Given the description of an element on the screen output the (x, y) to click on. 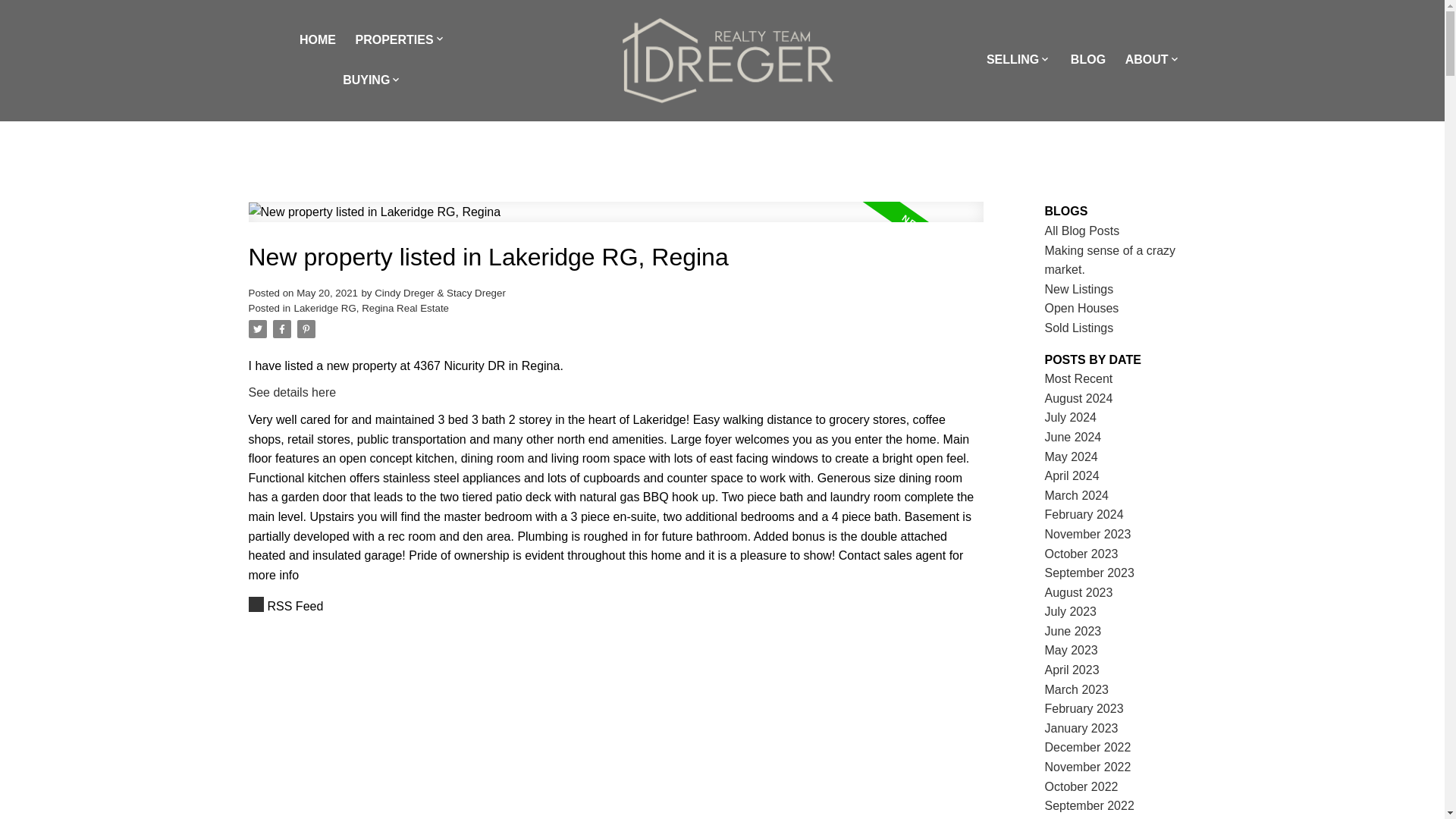
April 2024 (1072, 475)
August 2024 (1079, 398)
All Blog Posts (1082, 230)
February 2024 (1084, 513)
Sold Listings (1079, 327)
New Listings (1079, 288)
August 2023 (1079, 592)
May 2024 (1071, 456)
BLOG (1087, 60)
March 2024 (1077, 495)
